Given the description of an element on the screen output the (x, y) to click on. 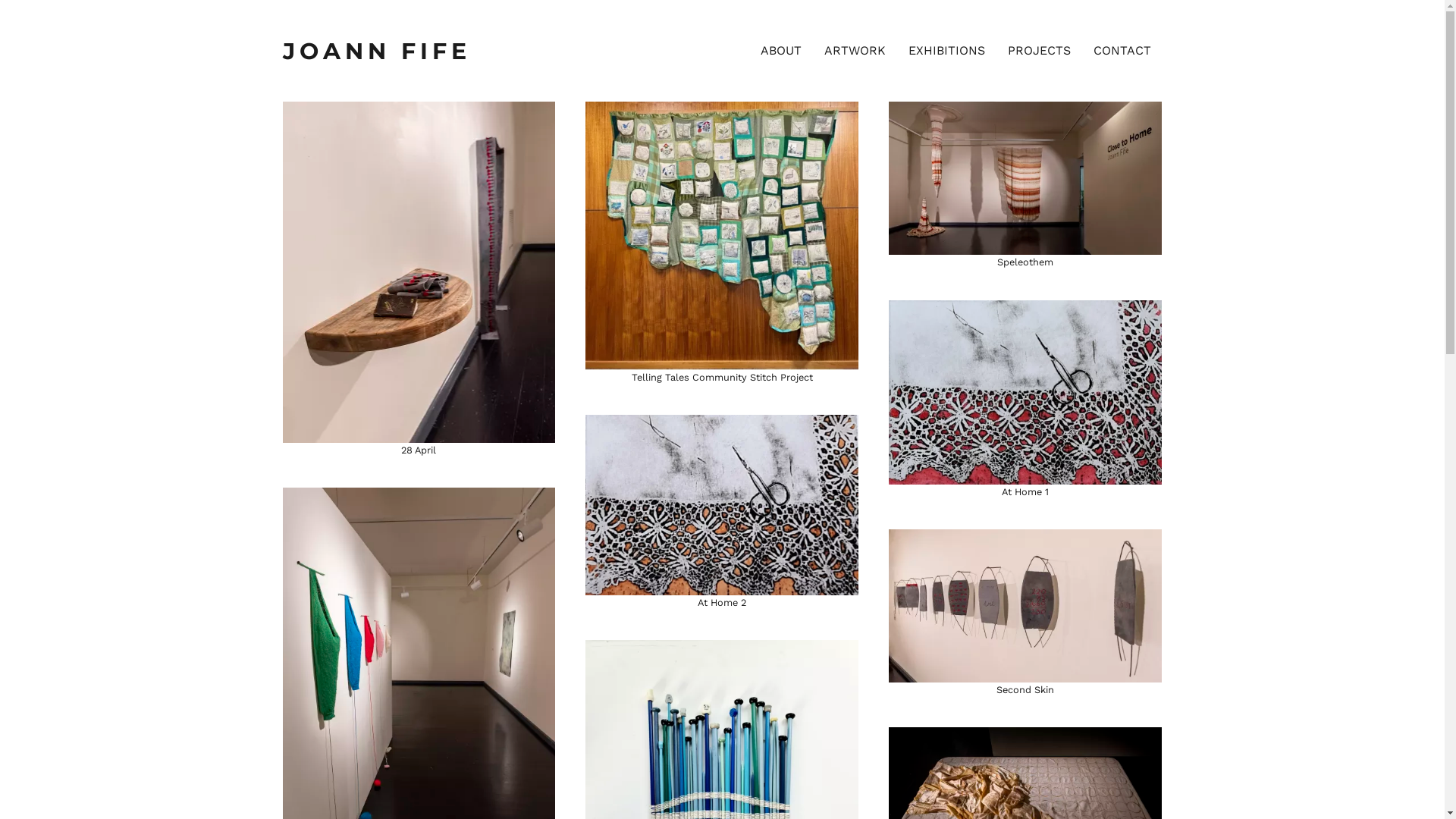
EXHIBITIONS Element type: text (945, 50)
ABOUT Element type: text (780, 50)
ARTWORK Element type: text (854, 50)
CONTACT Element type: text (1121, 50)
JOANN FIFE Element type: text (392, 49)
PROJECTS Element type: text (1039, 50)
